Given the description of an element on the screen output the (x, y) to click on. 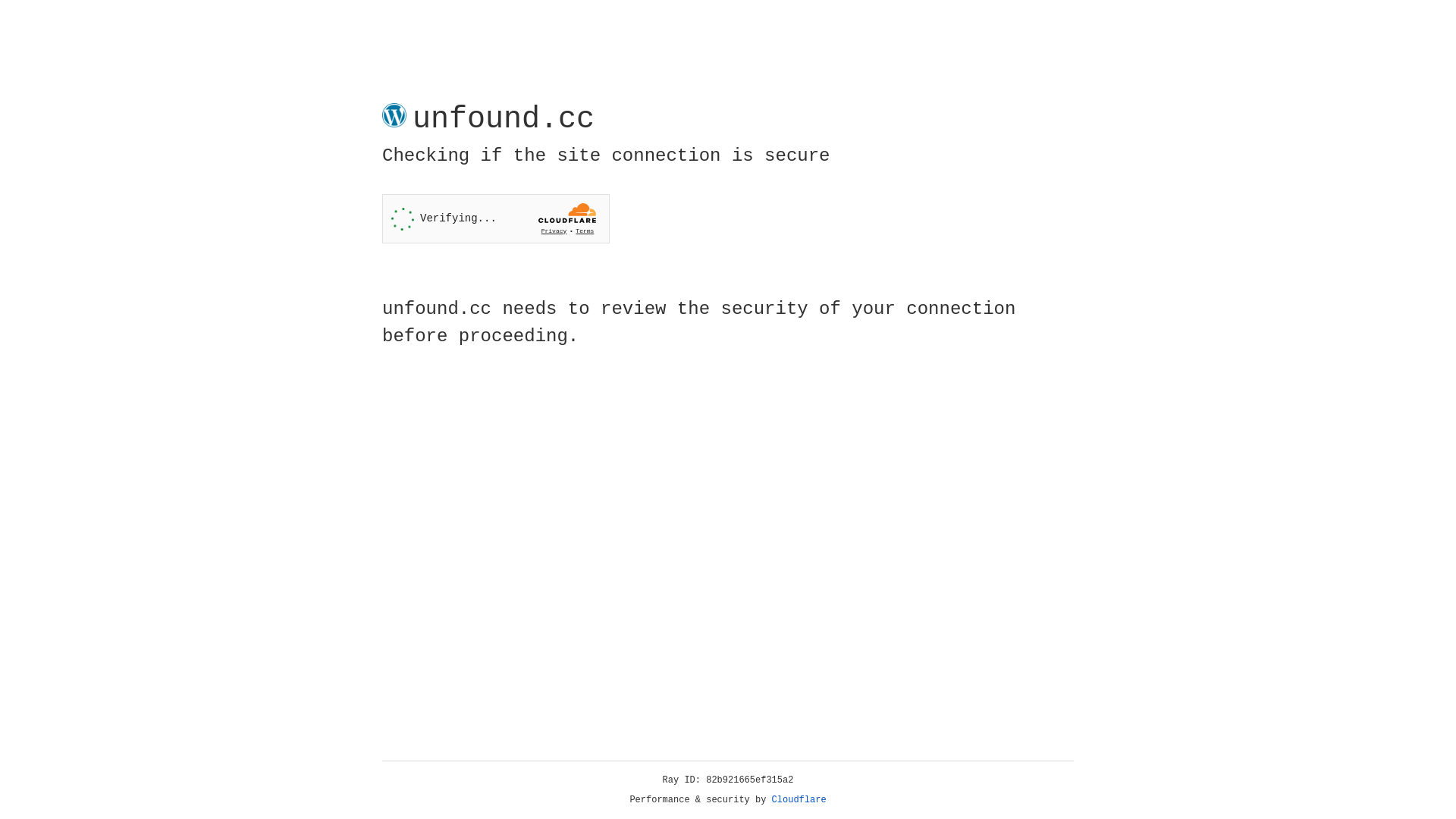
Cloudflare Element type: text (798, 799)
Widget containing a Cloudflare security challenge Element type: hover (495, 218)
